Given the description of an element on the screen output the (x, y) to click on. 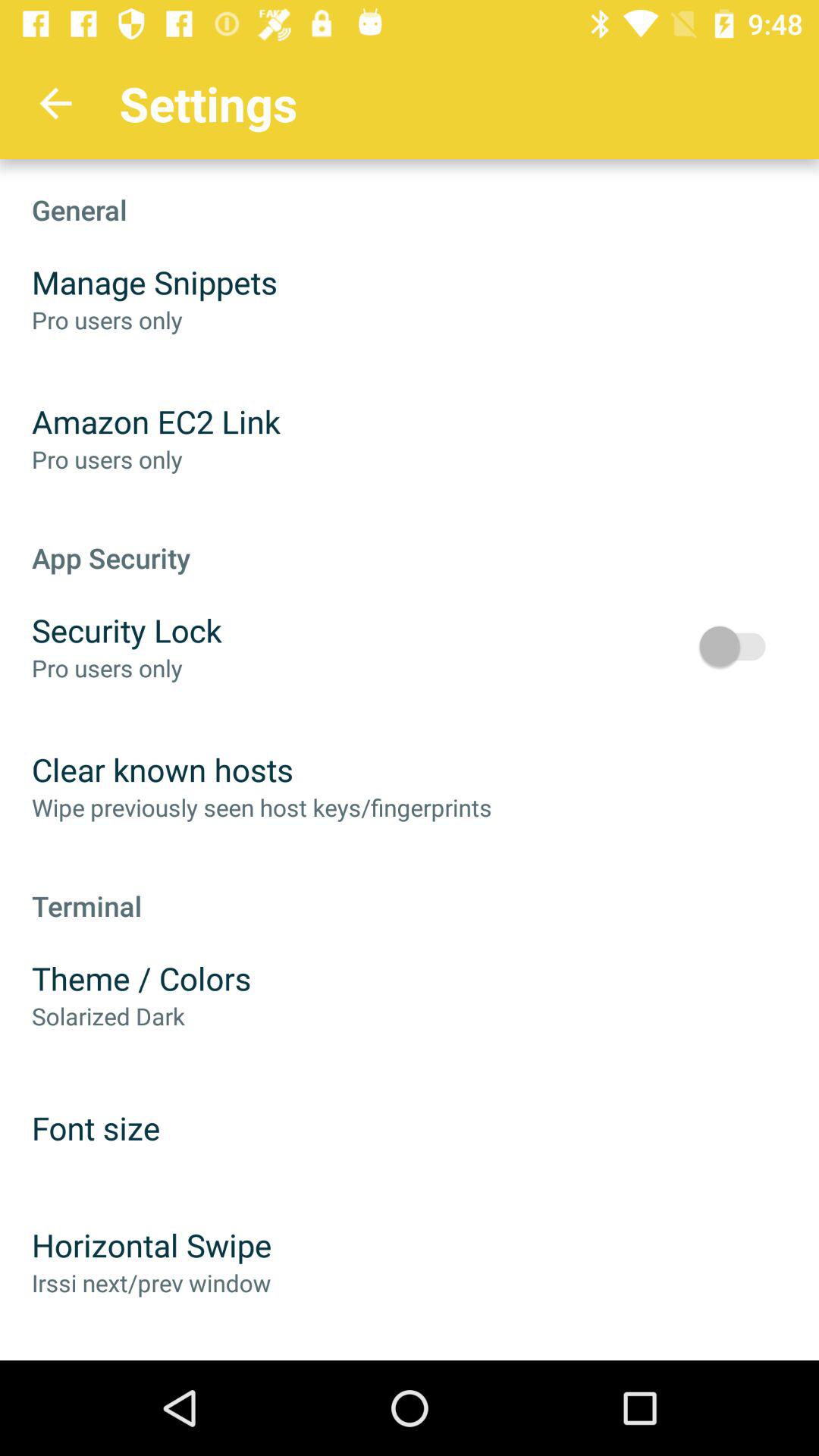
launch icon above solarized dark (141, 977)
